Given the description of an element on the screen output the (x, y) to click on. 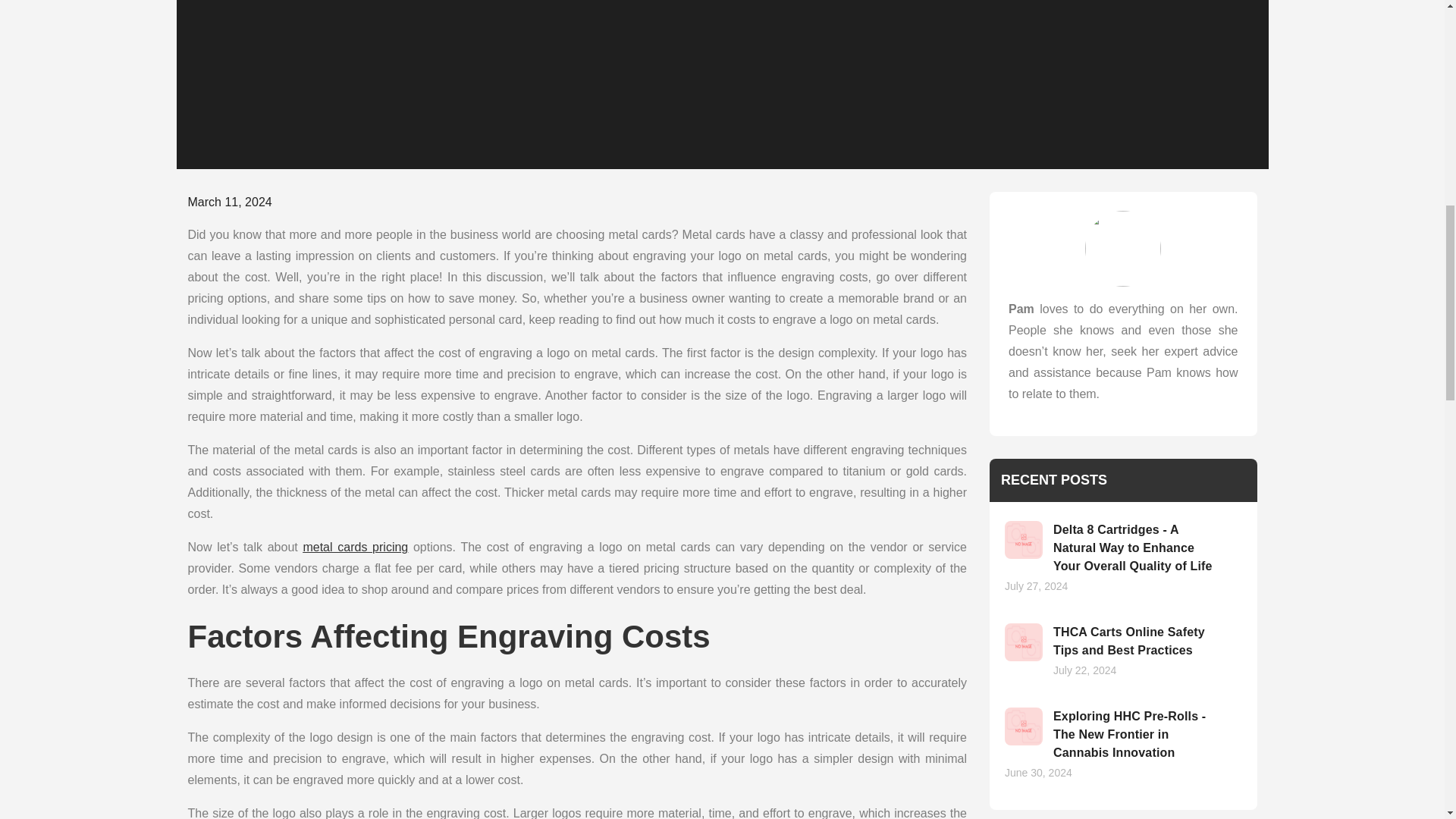
March 11, 2024 (229, 201)
July 27, 2024 (1035, 585)
metal cards pricing (354, 546)
THCA Carts Online Safety Tips and Best Practices (1128, 640)
July 22, 2024 (1084, 670)
June 30, 2024 (1037, 772)
